Given the description of an element on the screen output the (x, y) to click on. 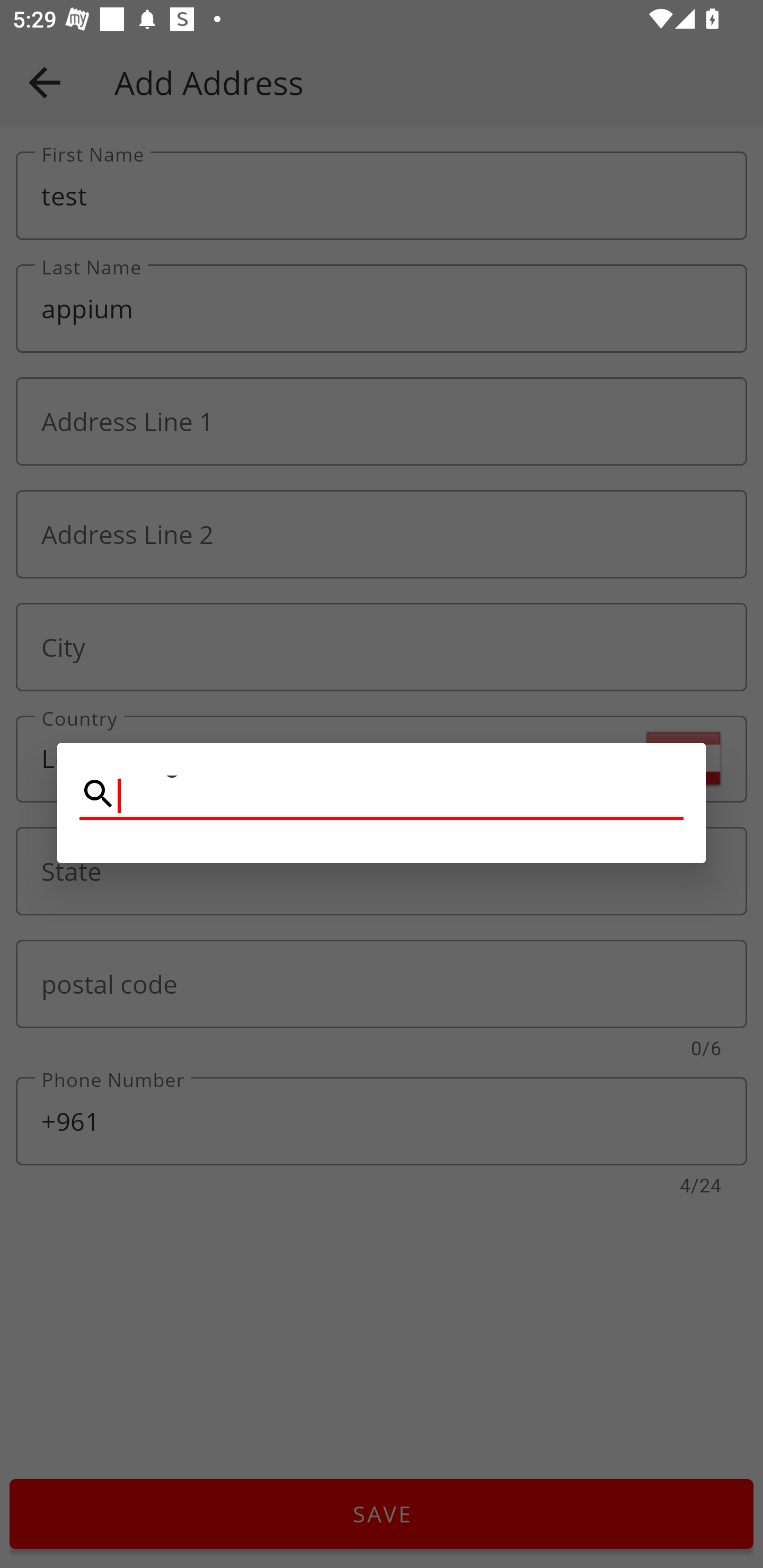
sunglasses
 (381, 794)
